Given the description of an element on the screen output the (x, y) to click on. 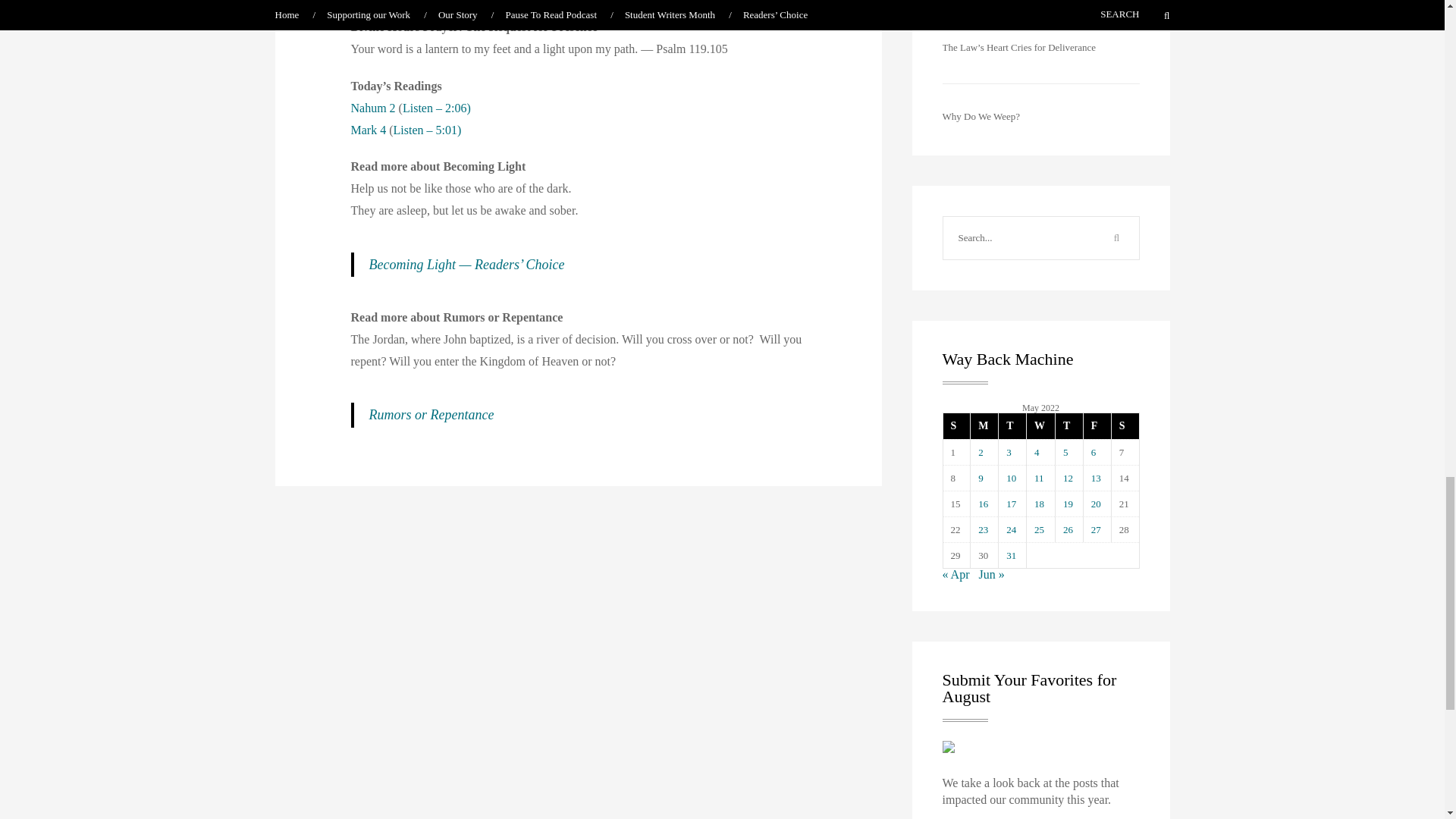
Monday (983, 425)
Mark 4 (367, 129)
Nahum 2 (372, 107)
Sunday (957, 425)
Rumors or Repentance (430, 414)
Why Do We Weep? (980, 116)
Tuesday (1011, 425)
Saturday (1124, 425)
Wednesday (1040, 425)
Search (1116, 238)
Thursday (1068, 425)
Search... (1018, 238)
Friday (1096, 425)
